Given the description of an element on the screen output the (x, y) to click on. 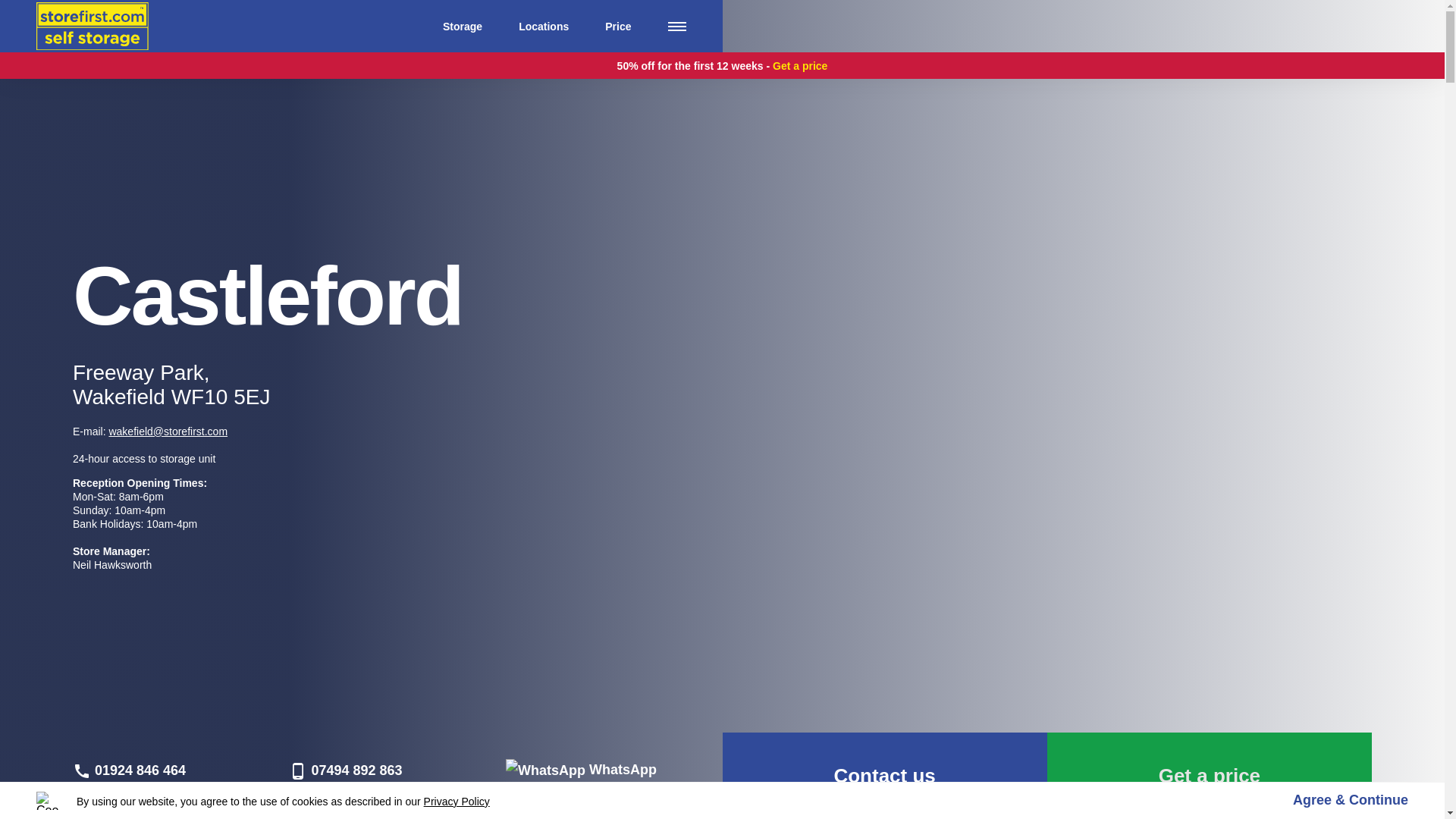
07494 892 863 (344, 770)
Get a price (800, 65)
WhatsApp (580, 769)
Get a price (1208, 775)
Storage (461, 26)
Locations (543, 26)
Contact us (884, 775)
Price (617, 26)
01924 846 464 (129, 770)
